Given the description of an element on the screen output the (x, y) to click on. 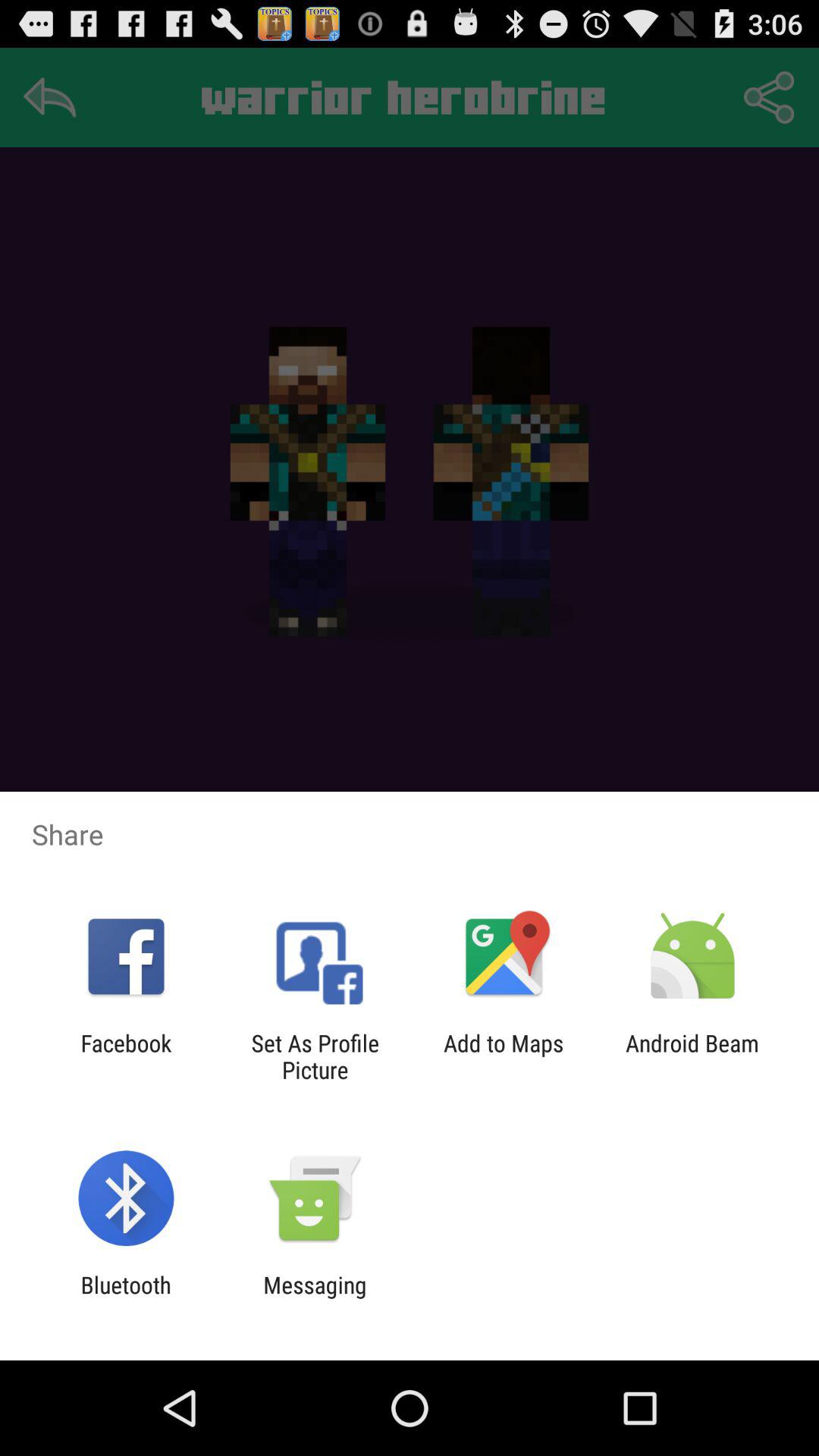
turn off app to the left of set as profile (125, 1056)
